Given the description of an element on the screen output the (x, y) to click on. 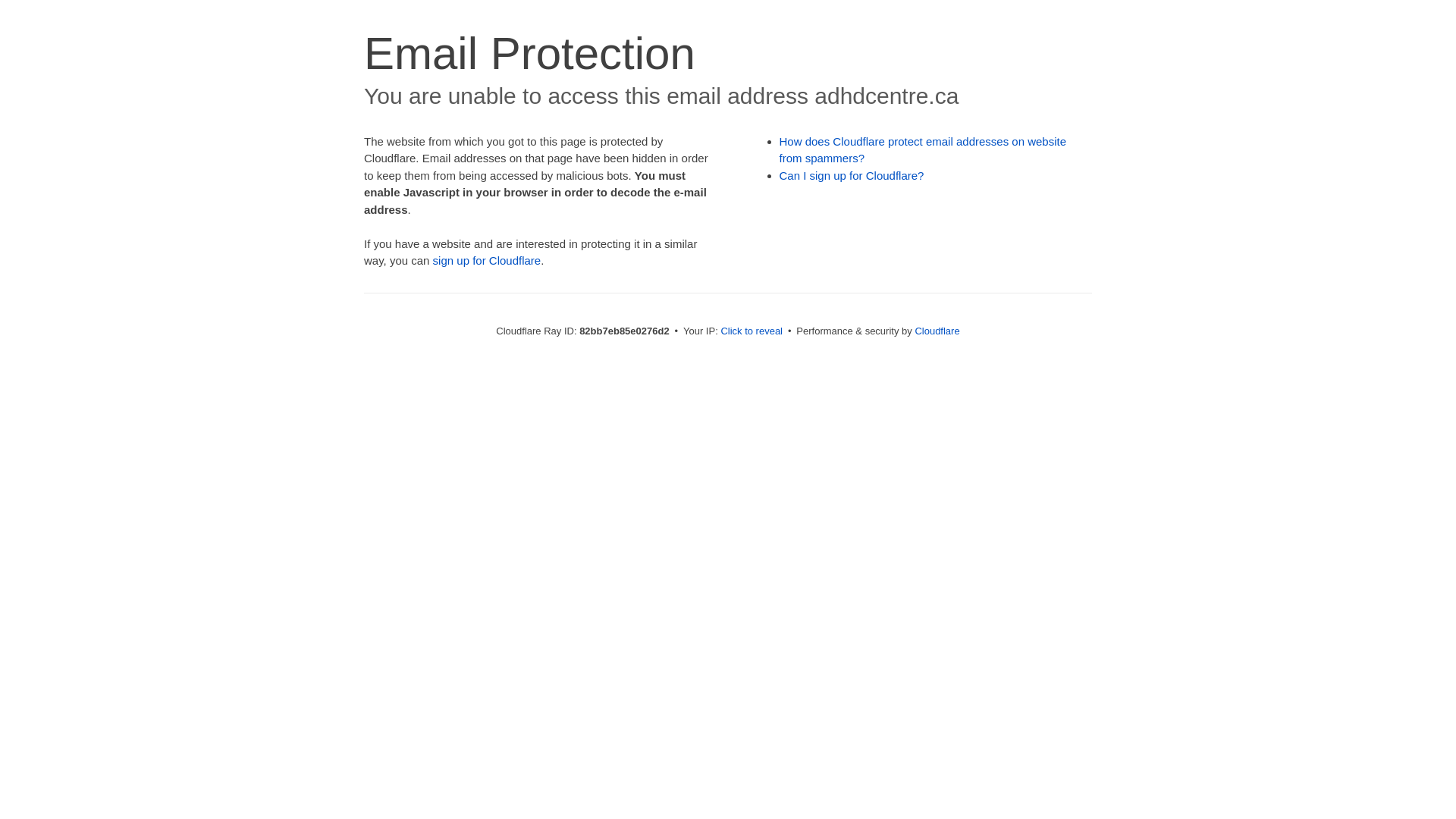
Can I sign up for Cloudflare? Element type: text (851, 175)
Cloudflare Element type: text (936, 330)
Click to reveal Element type: text (751, 330)
sign up for Cloudflare Element type: text (487, 260)
